Given the description of an element on the screen output the (x, y) to click on. 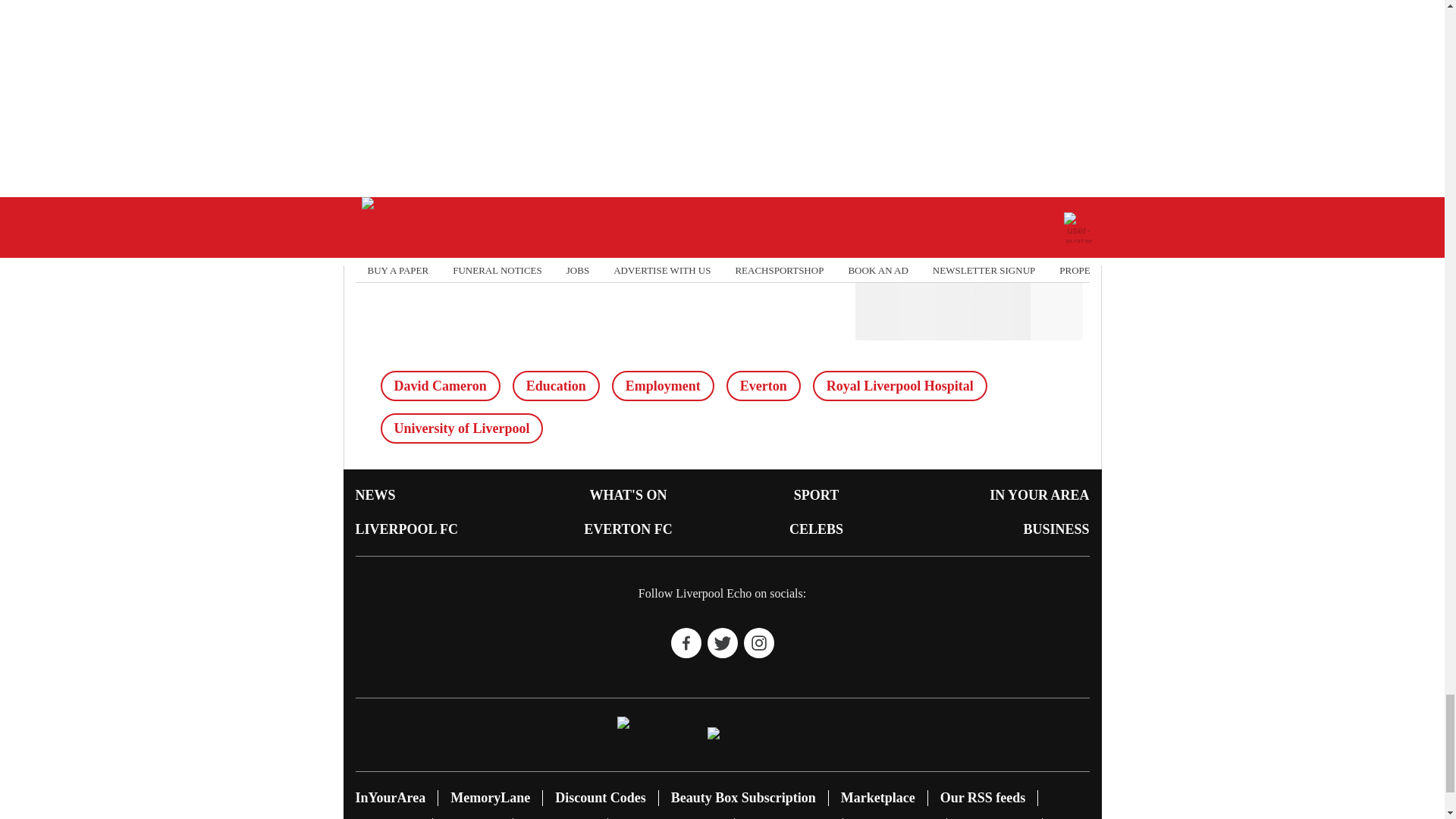
Royal Liverpool Hospital (899, 386)
University of Liverpool (461, 428)
IN YOUR AREA (1039, 494)
EVERTON FC (627, 529)
Everton (763, 386)
Education (555, 386)
NEWS (374, 494)
David Cameron (440, 386)
SPORT (815, 494)
WHAT'S ON (627, 494)
